Given the description of an element on the screen output the (x, y) to click on. 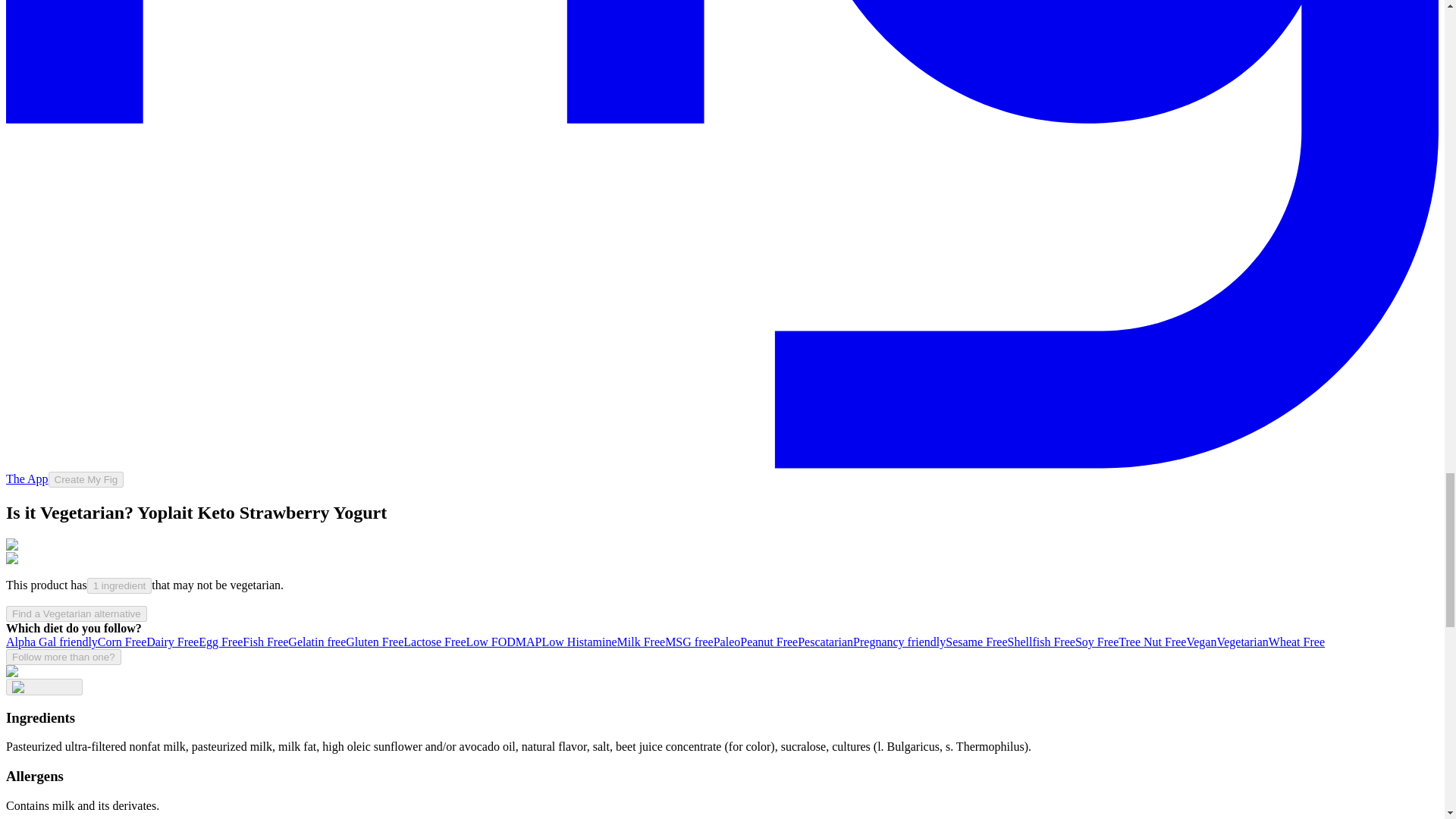
Low FODMAP (503, 641)
Egg Free (220, 641)
Peanut Free (768, 641)
Fish Free (265, 641)
Lactose Free (434, 641)
Alpha Gal friendly (51, 641)
Milk Free (641, 641)
Dairy Free (172, 641)
The App (26, 478)
Pregnancy friendly (898, 641)
Pescatarian (825, 641)
Create My Fig (85, 479)
Paleo (727, 641)
Gluten Free (374, 641)
Low Histamine (578, 641)
